Given the description of an element on the screen output the (x, y) to click on. 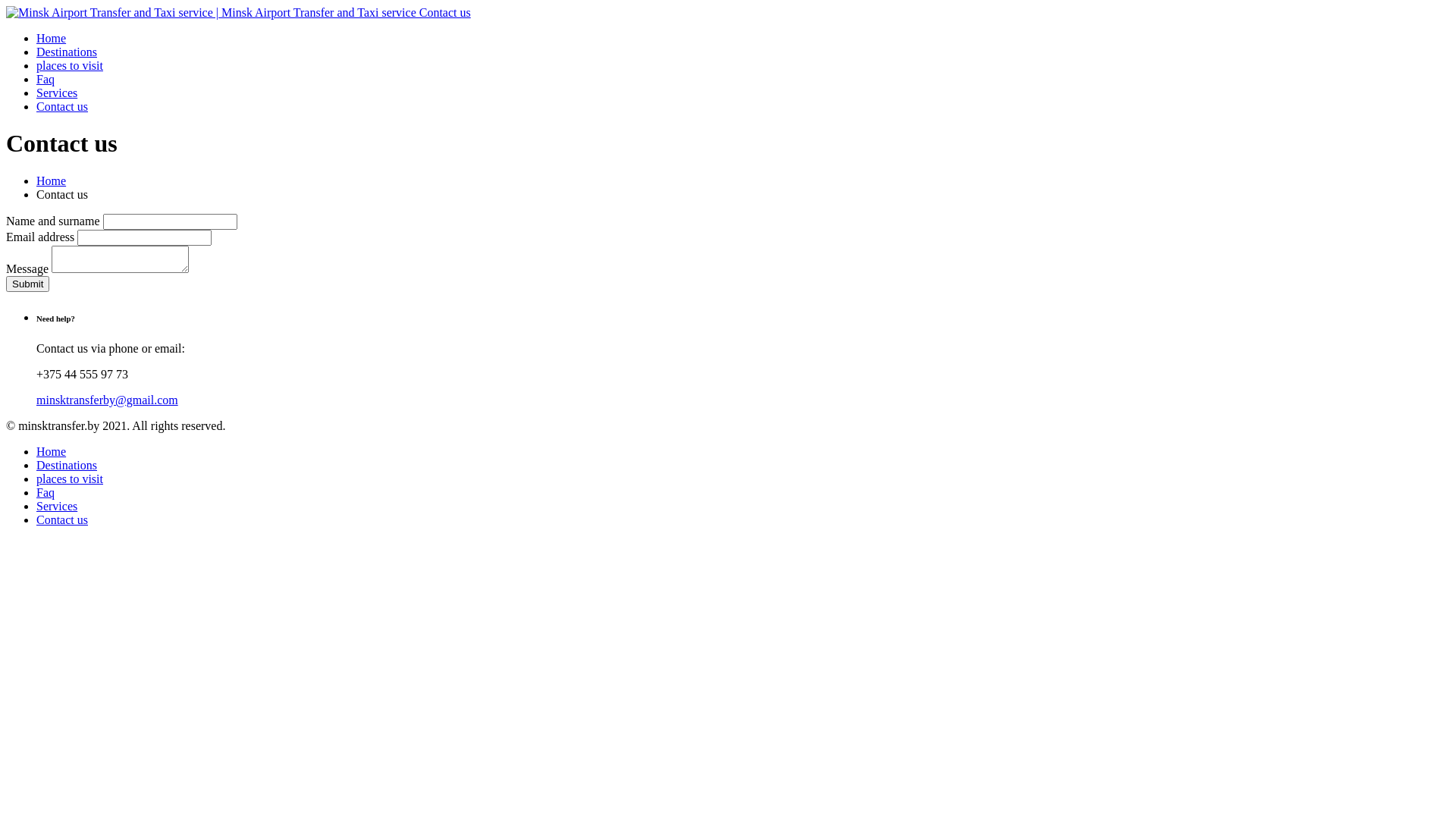
Faq Element type: text (45, 492)
Home Element type: text (50, 180)
Home Element type: text (50, 37)
Submit Element type: text (27, 283)
Contact us Element type: text (61, 106)
minsktransferby@gmail.com Element type: text (107, 399)
Faq Element type: text (45, 78)
Destinations Element type: text (66, 464)
places to visit Element type: text (69, 65)
Home Element type: text (50, 451)
Services Element type: text (56, 505)
Contact us Element type: text (61, 519)
Destinations Element type: text (66, 51)
Services Element type: text (56, 92)
places to visit Element type: text (69, 478)
